Given the description of an element on the screen output the (x, y) to click on. 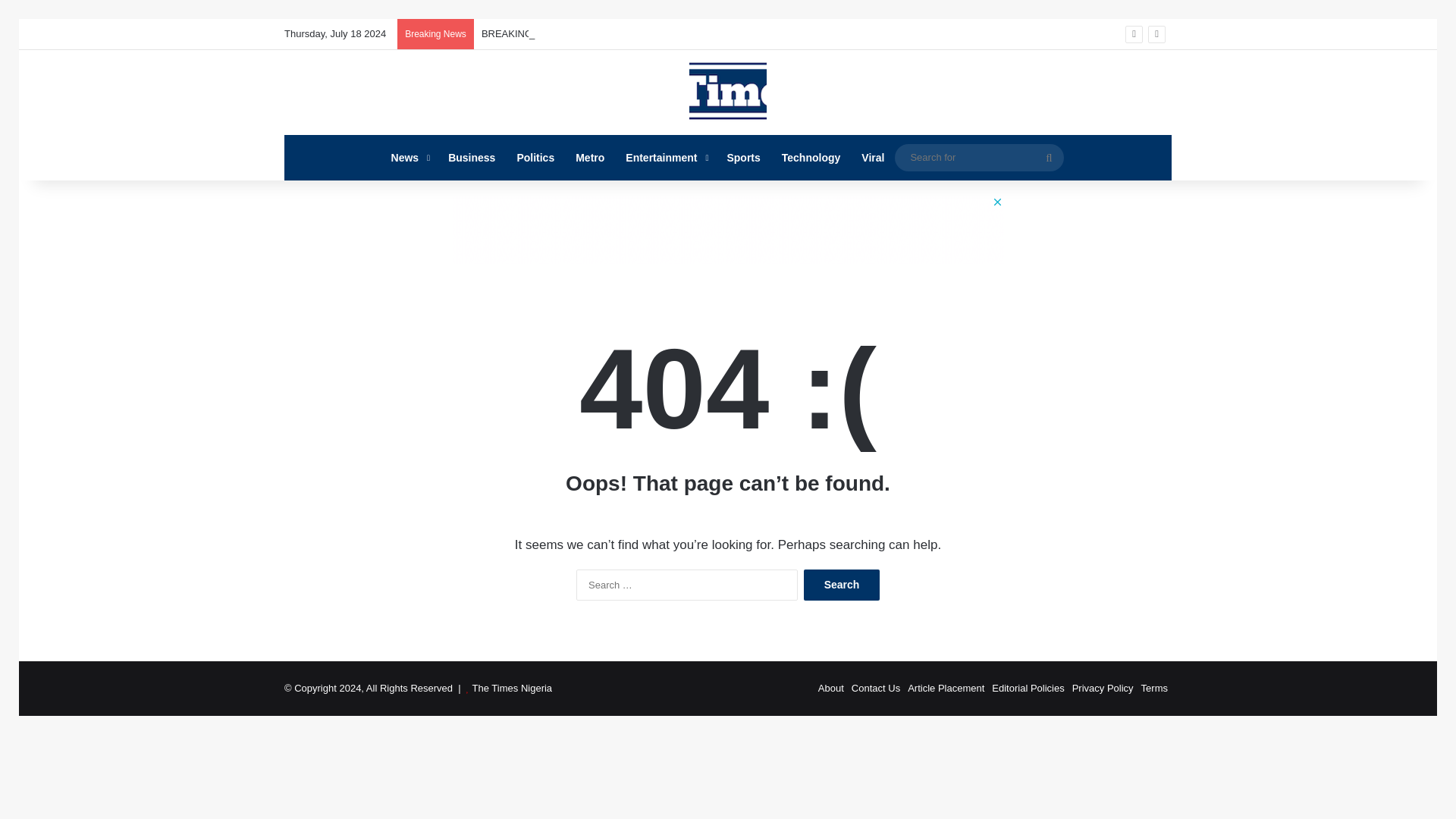
Business (471, 157)
Search (841, 584)
Entertainment (665, 157)
Technology (811, 157)
Article Placement (945, 687)
Terms (1154, 687)
Search (841, 584)
About (831, 687)
The Times Nigeria (511, 687)
Sports (743, 157)
TheTimes.com.ng (727, 92)
Politics (534, 157)
Privacy Policy (1102, 687)
3rd party ad content (727, 229)
